Given the description of an element on the screen output the (x, y) to click on. 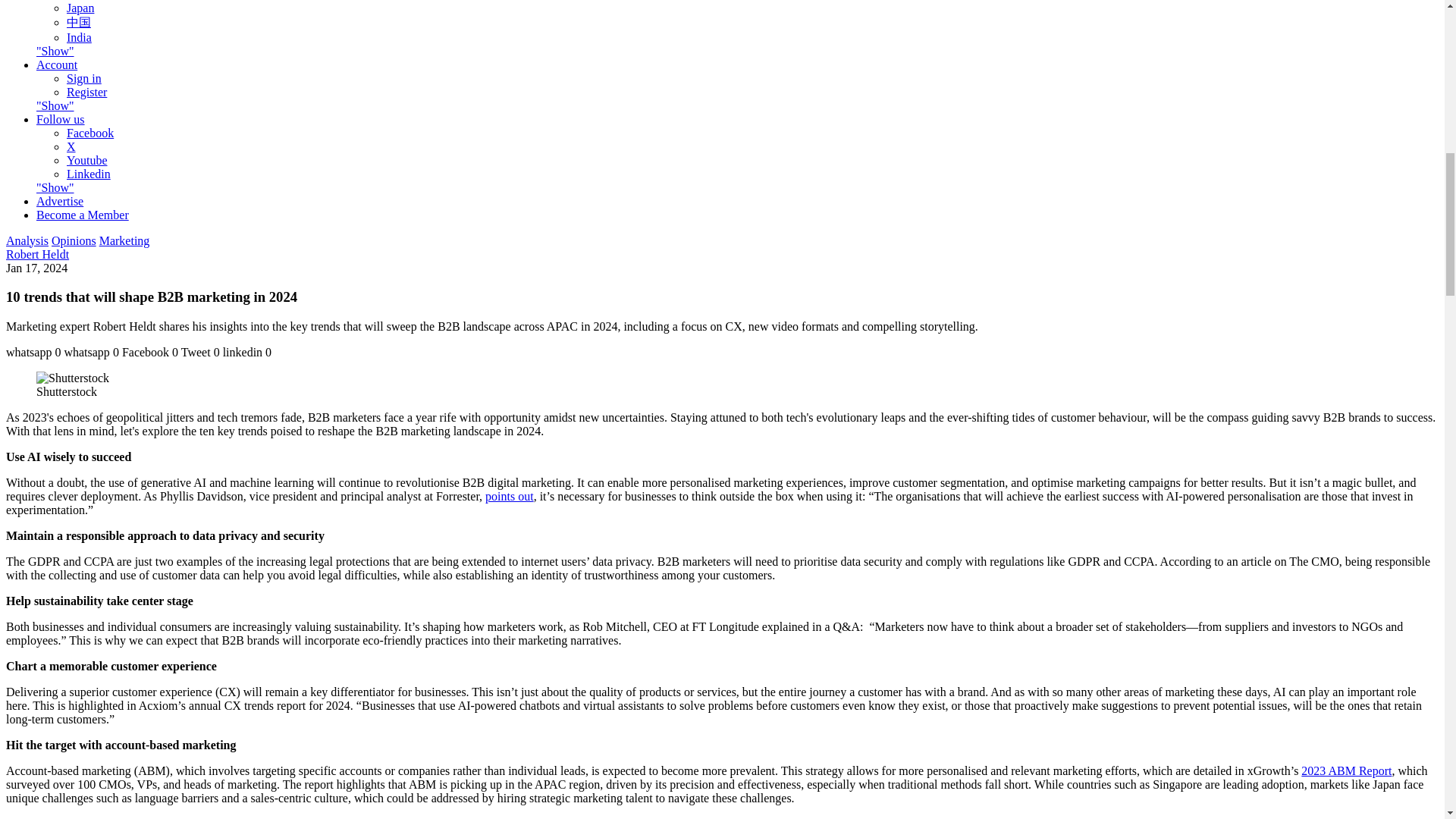
Sign in (83, 78)
Asia-Pacific (96, 0)
"Show" (55, 51)
Register (86, 91)
India (78, 37)
Sign in (83, 78)
Youtube (86, 160)
Account (56, 64)
Japan (80, 7)
Linkedin (88, 173)
Follow us (60, 119)
Facebook (89, 132)
Account (56, 64)
